Given the description of an element on the screen output the (x, y) to click on. 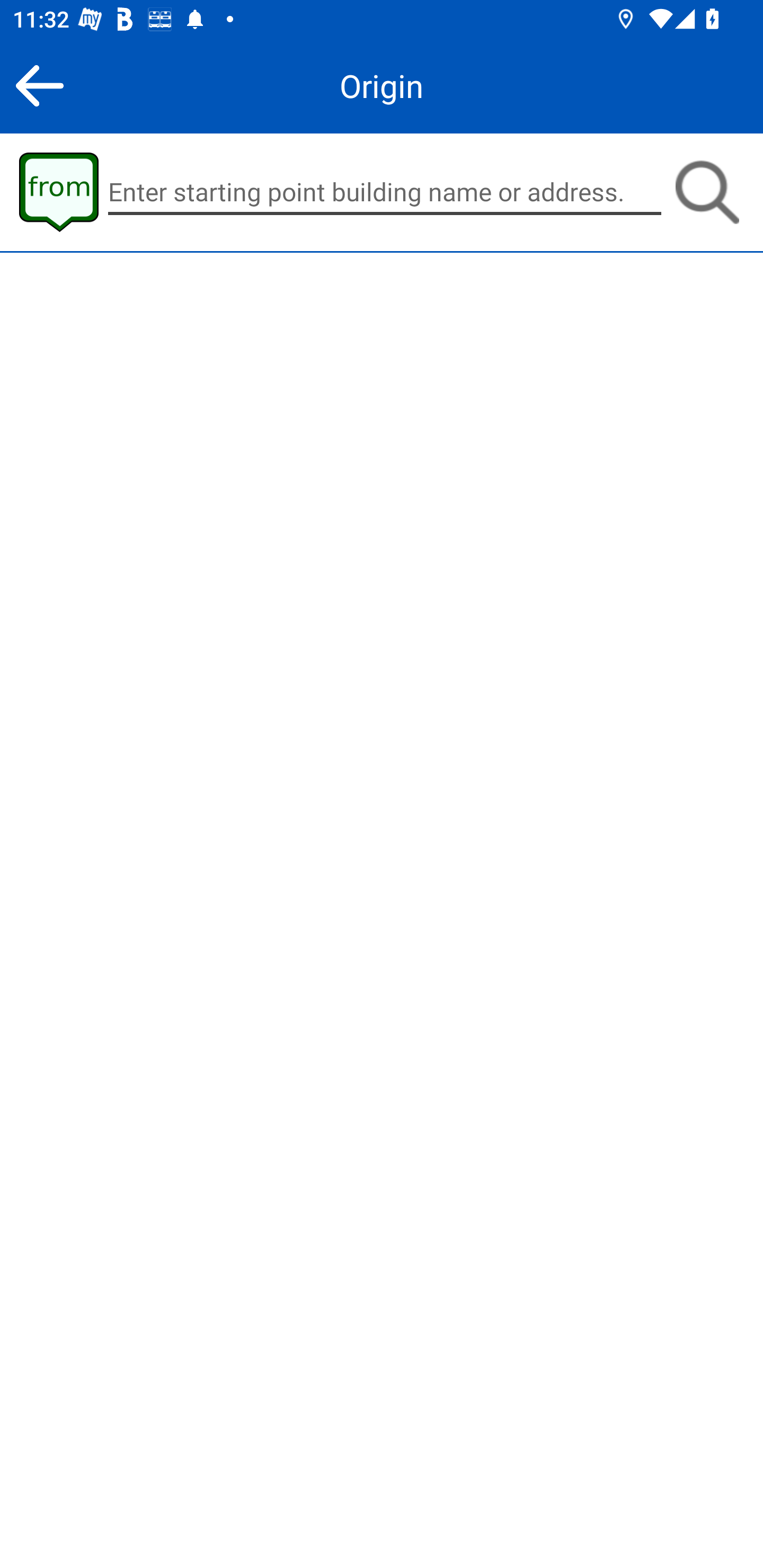
Back (39, 85)
Enter starting point building name or address. (384, 191)
Search (707, 191)
